Given the description of an element on the screen output the (x, y) to click on. 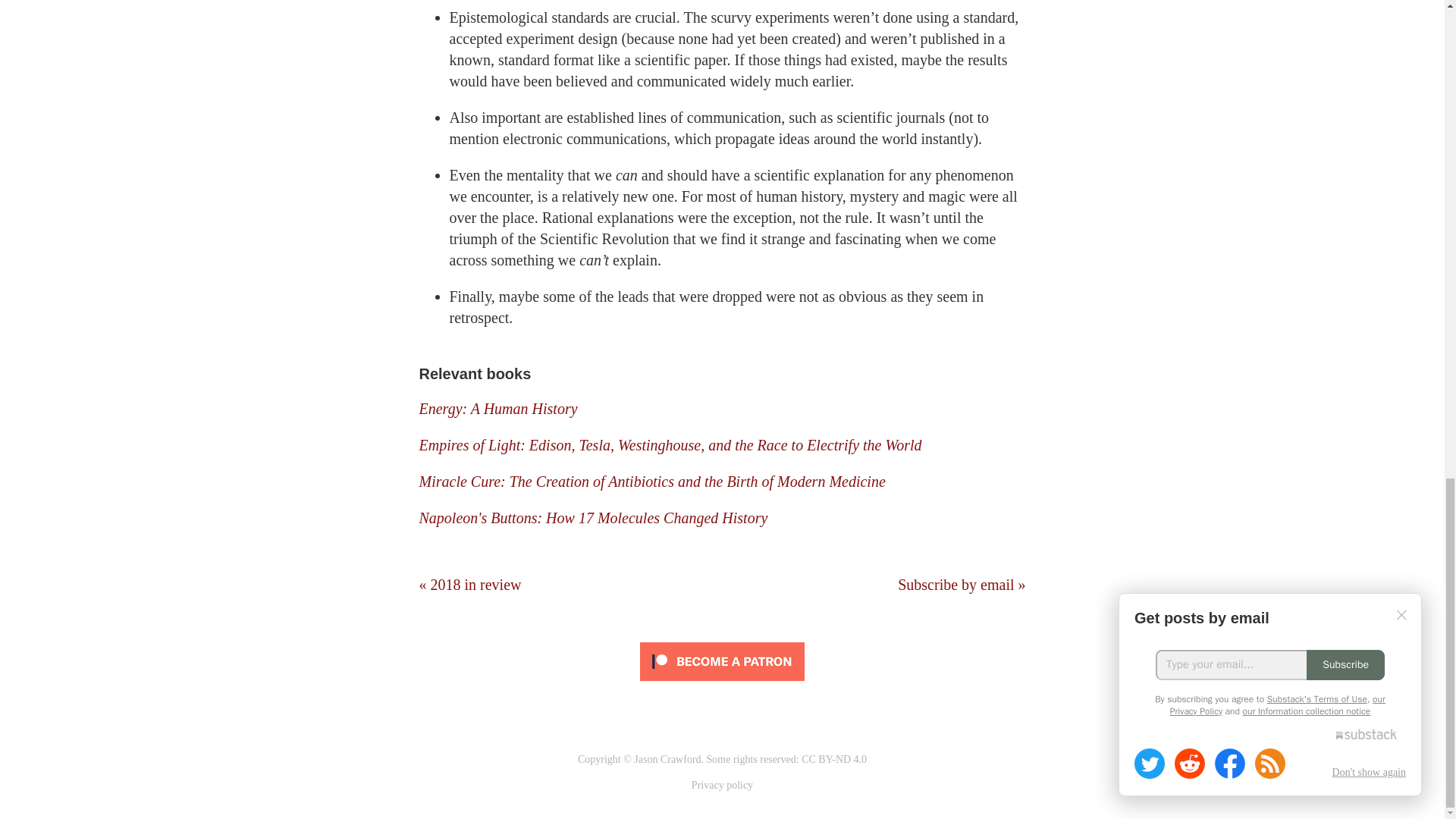
Energy: A Human History (497, 408)
CC BY-ND 4.0 (834, 758)
Napoleon's Buttons: How 17 Molecules Changed History (593, 517)
Privacy policy (721, 785)
